Given the description of an element on the screen output the (x, y) to click on. 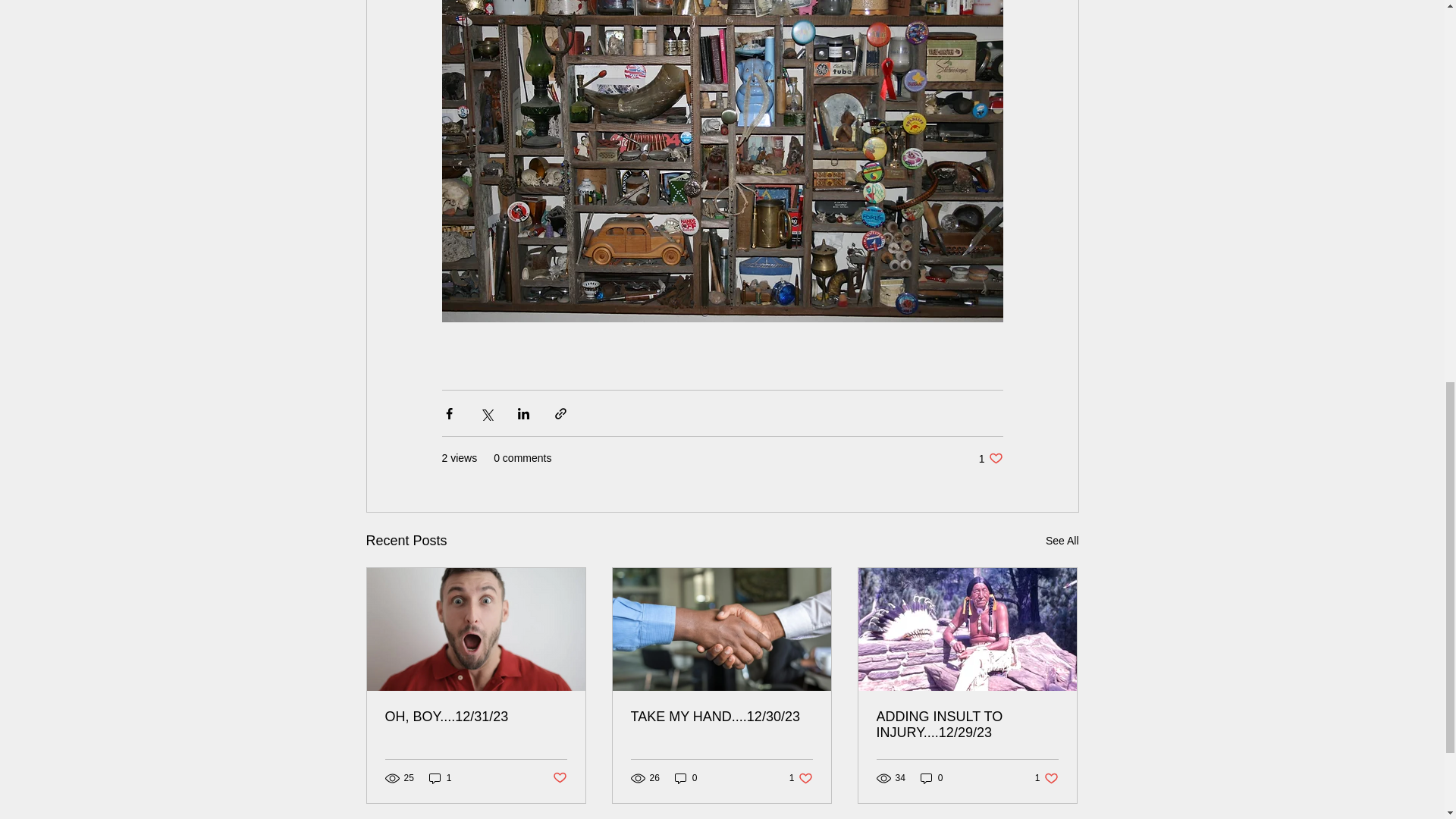
0 (685, 778)
See All (1061, 540)
Post not marked as liked (800, 778)
0 (558, 778)
1 (931, 778)
